Given the description of an element on the screen output the (x, y) to click on. 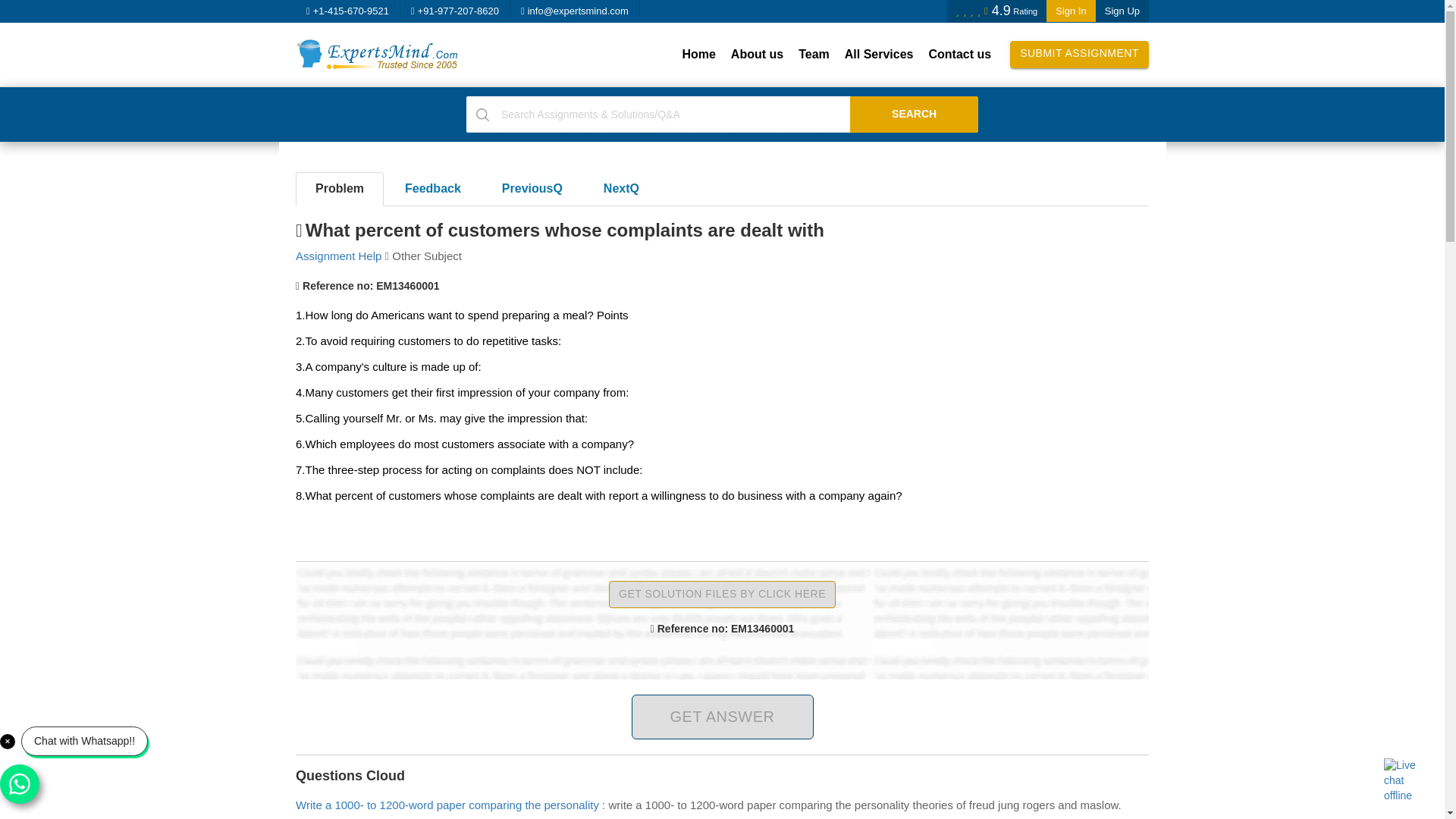
Search (914, 114)
Sign Up (1122, 11)
Team (813, 54)
Feedback (432, 188)
About us (756, 54)
Get Answer (721, 716)
SUBMIT ASSIGNMENT (1079, 53)
4.9 Rating (996, 11)
Live chat offline (1406, 780)
All Services (879, 54)
PreviousQ (531, 188)
Sign In (1070, 11)
Problem (339, 188)
Search (914, 114)
Contact us (959, 54)
